Given the description of an element on the screen output the (x, y) to click on. 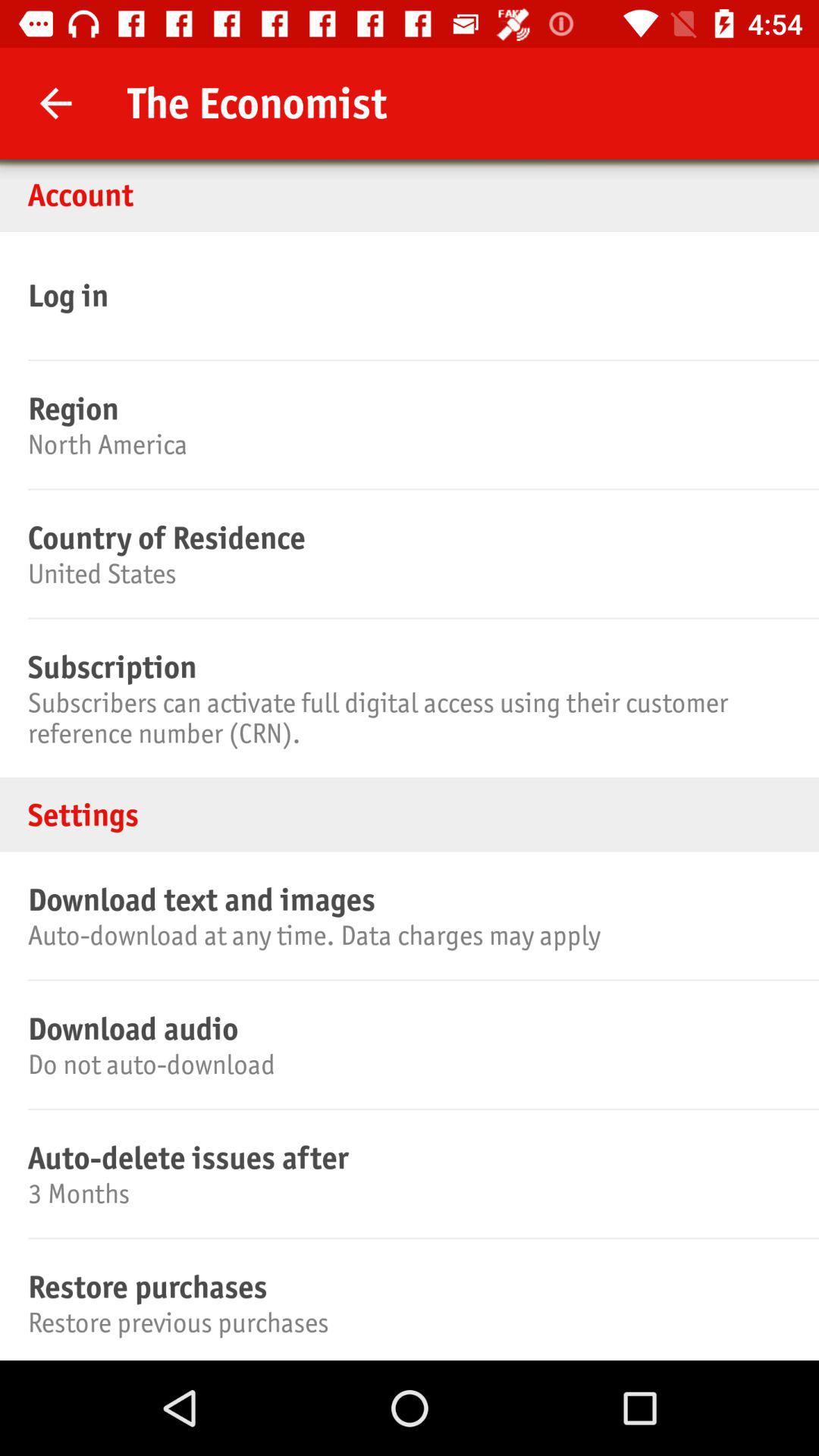
click the download text and icon (407, 899)
